Given the description of an element on the screen output the (x, y) to click on. 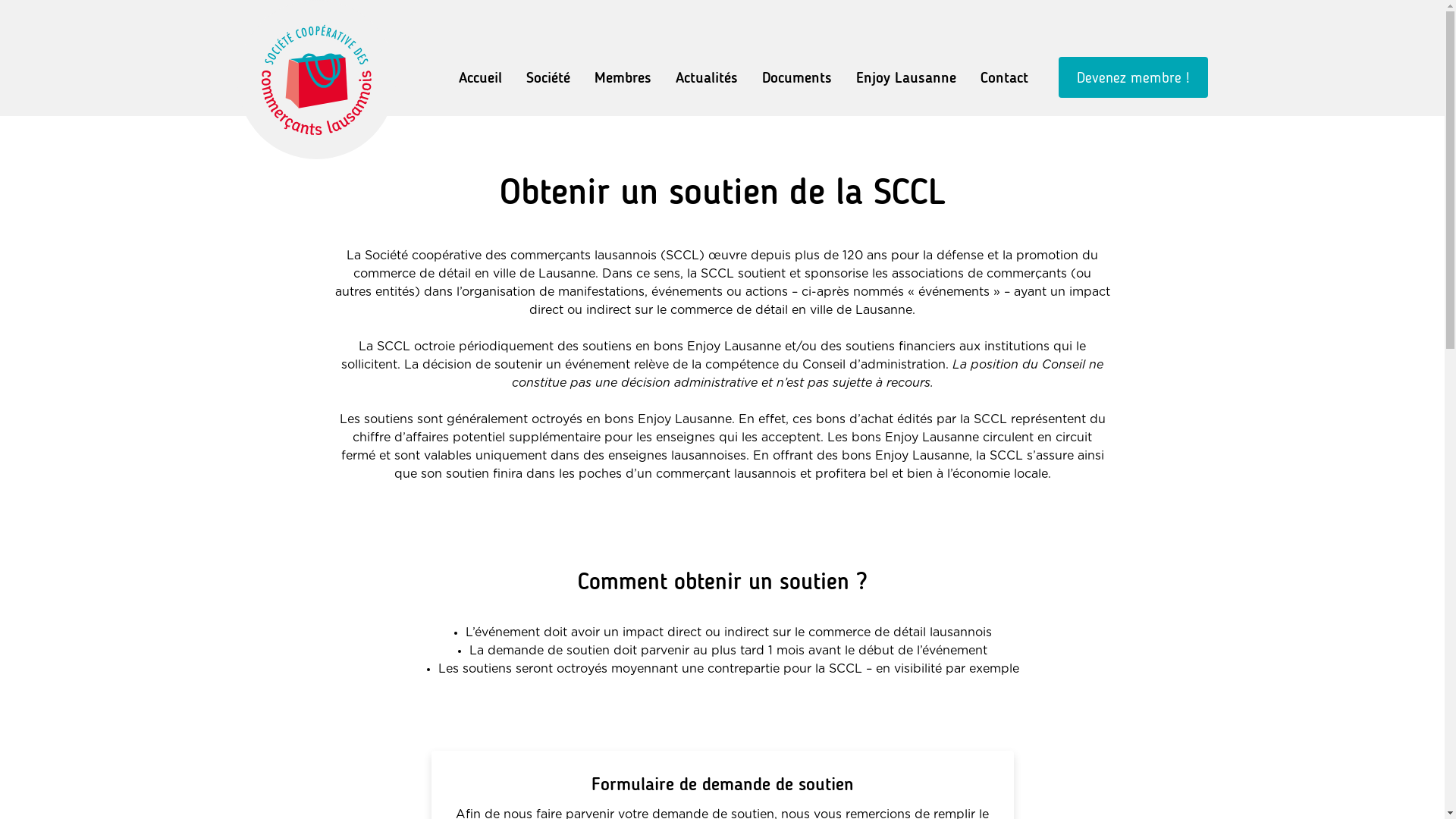
Devenez membre ! Element type: text (1133, 76)
Accueil Element type: text (479, 76)
Enjoy Lausanne Element type: text (905, 76)
Documents Element type: text (796, 76)
Membres Element type: text (622, 76)
Contact Element type: text (1003, 76)
